Given the description of an element on the screen output the (x, y) to click on. 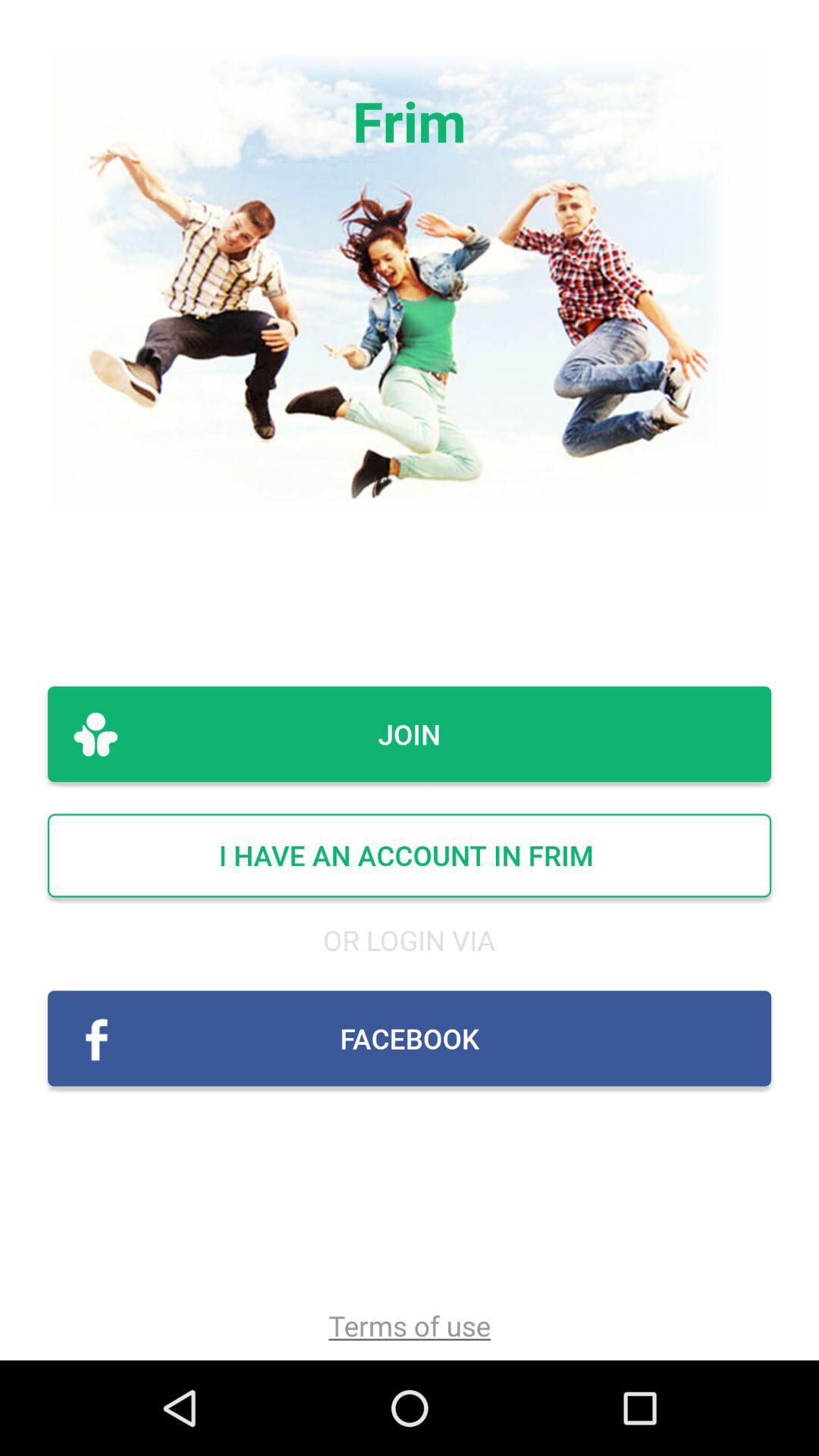
swipe until join icon (409, 734)
